Given the description of an element on the screen output the (x, y) to click on. 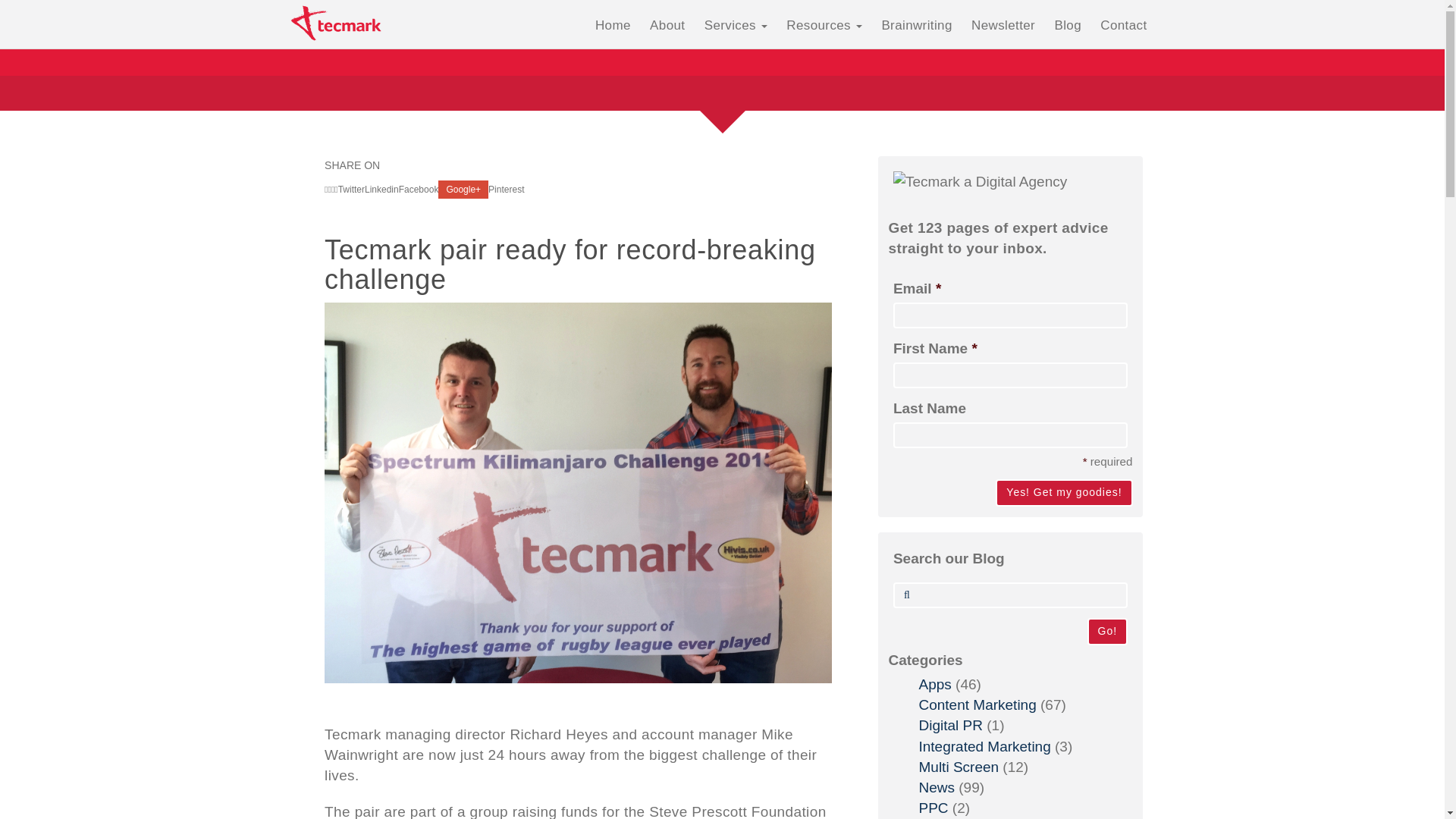
Blog (1067, 25)
Newsletter (1003, 25)
Contact (1123, 25)
Home (612, 25)
Home (612, 25)
Services (735, 25)
Brainwriting (916, 25)
About (666, 25)
About (666, 25)
Services (735, 25)
Yes! Get my goodies! (1063, 492)
Resources (823, 25)
Resources (823, 25)
